Given the description of an element on the screen output the (x, y) to click on. 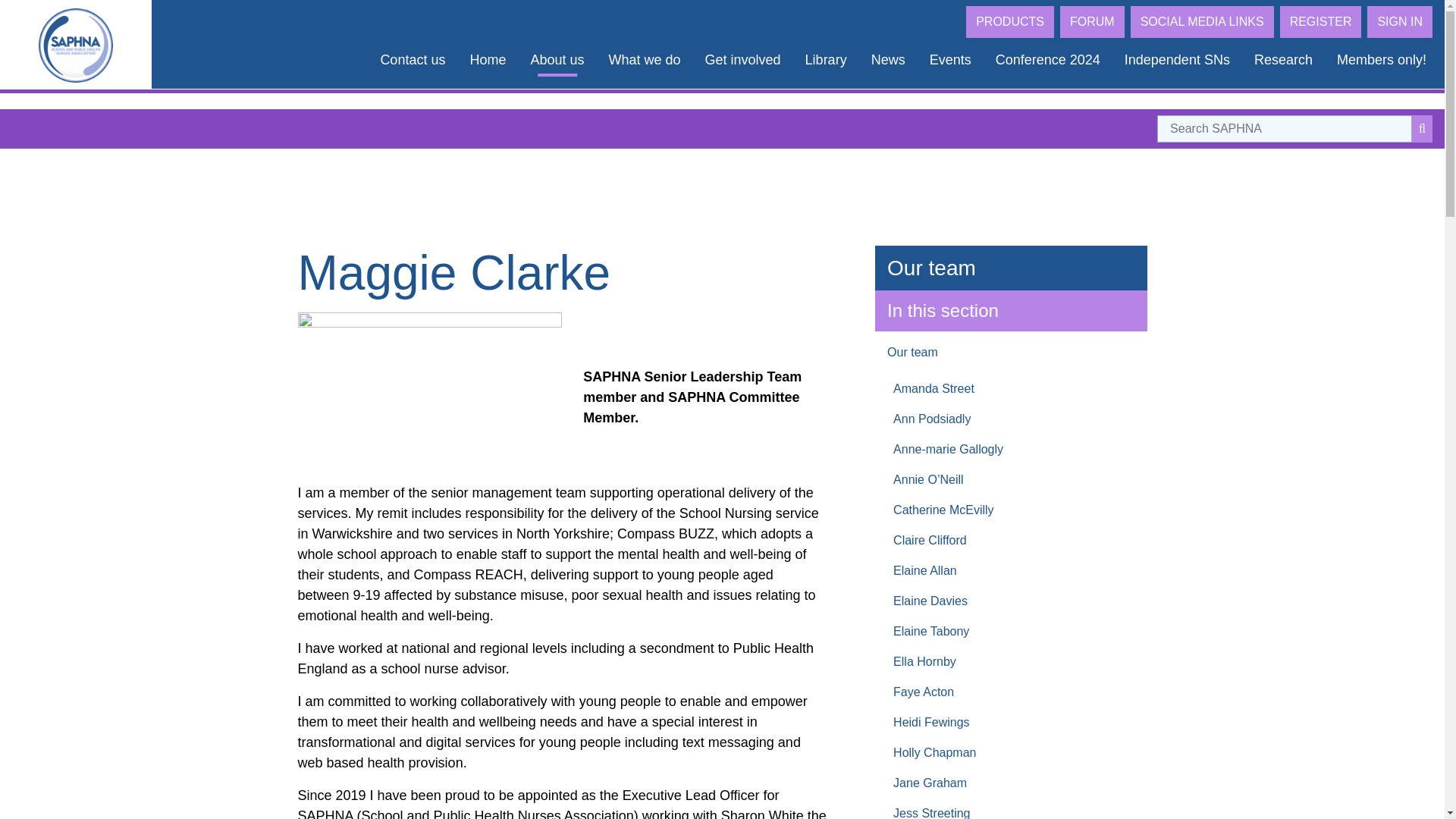
News (888, 59)
REGISTER (1320, 21)
PRODUCTS (1010, 21)
Events (950, 59)
About us (556, 59)
Library (826, 59)
SIGN IN (1399, 21)
SOCIAL MEDIA LINKS (1202, 21)
skip to main content (53, 8)
What we do (644, 59)
FORUM (1091, 21)
Get involved (743, 59)
Home (487, 59)
Contact us (412, 59)
